Given the description of an element on the screen output the (x, y) to click on. 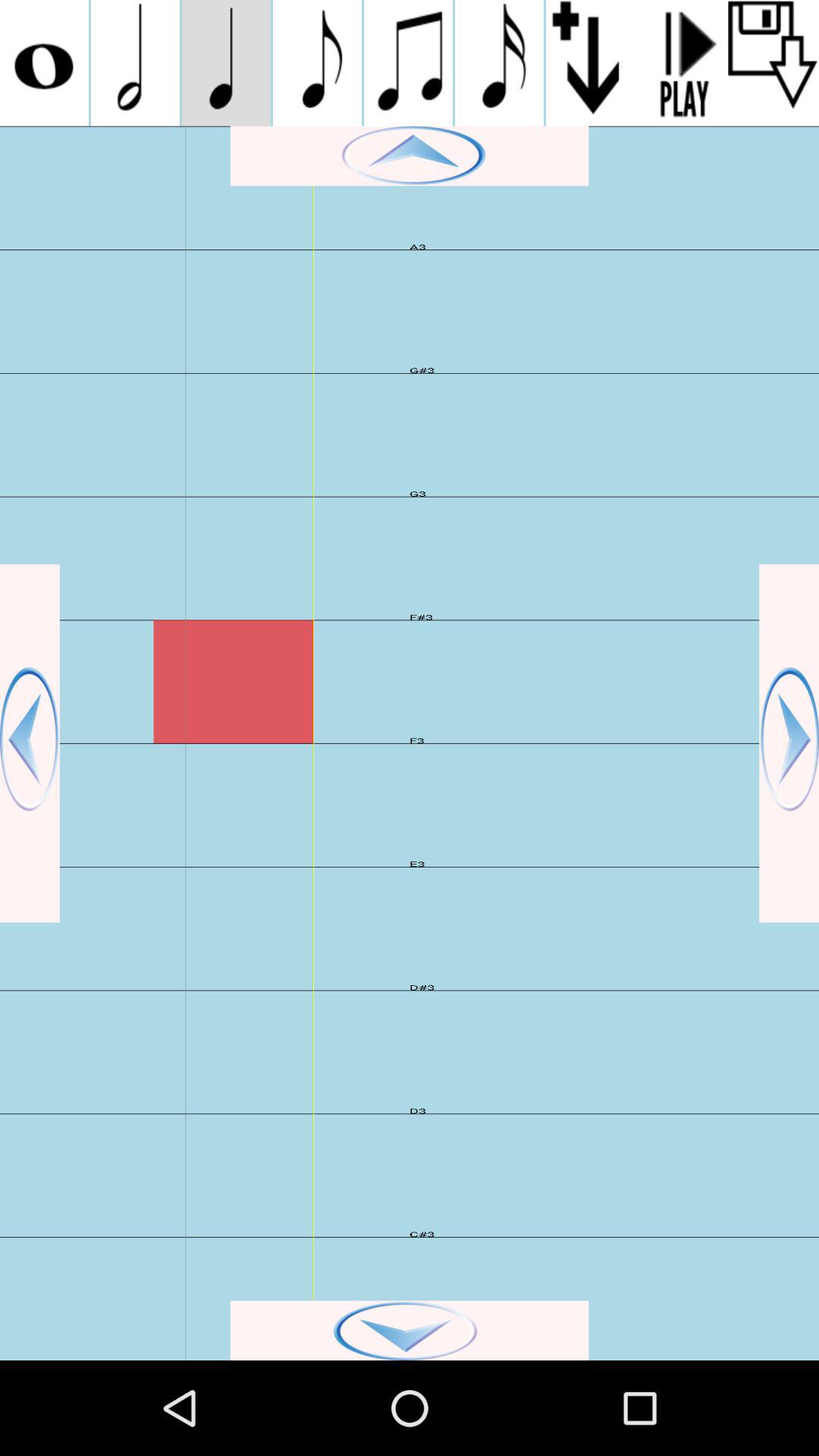
add minim (135, 63)
